Given the description of an element on the screen output the (x, y) to click on. 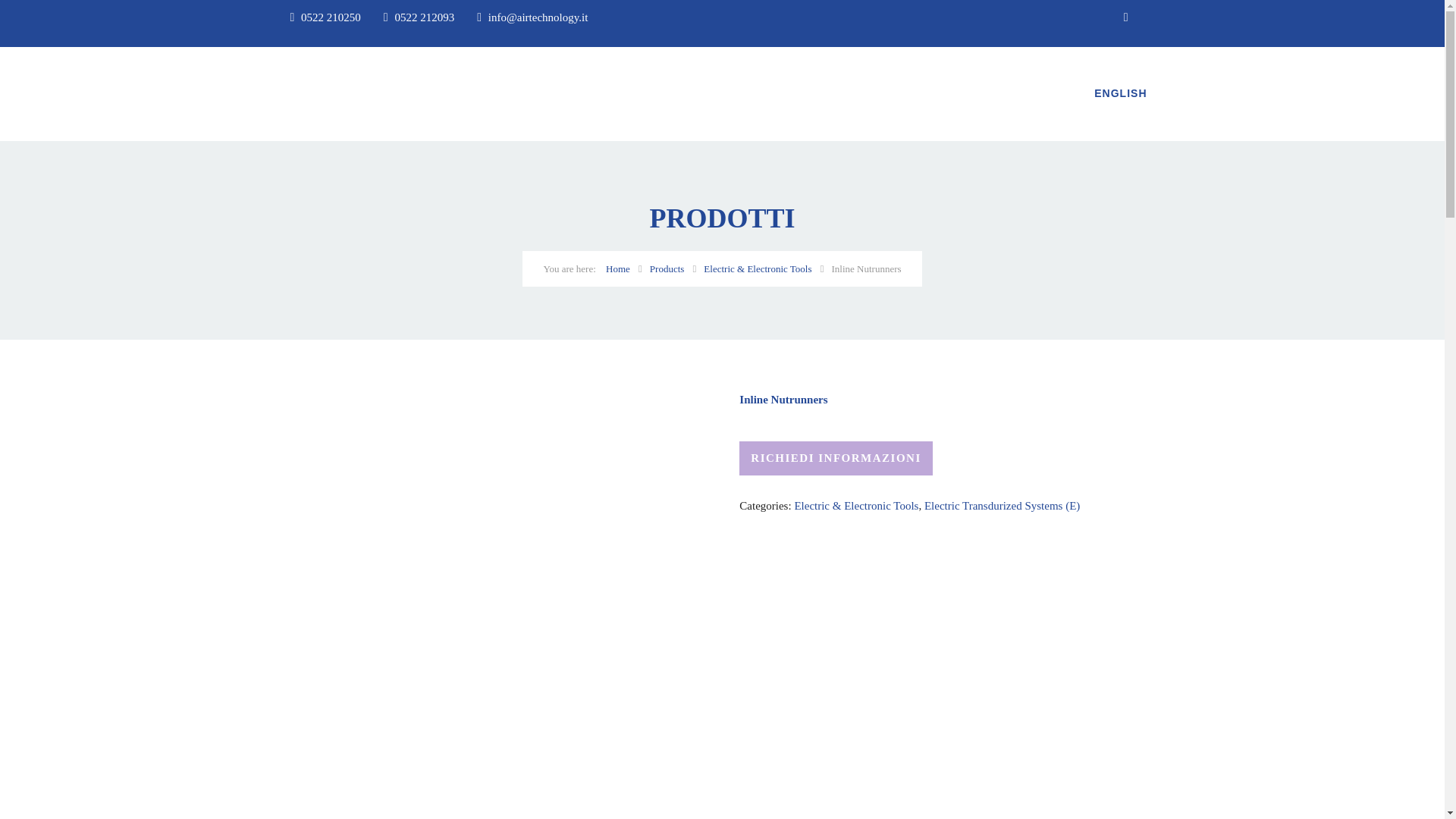
Richiedi informazioni (835, 458)
Home (617, 268)
Products (666, 268)
